Given the description of an element on the screen output the (x, y) to click on. 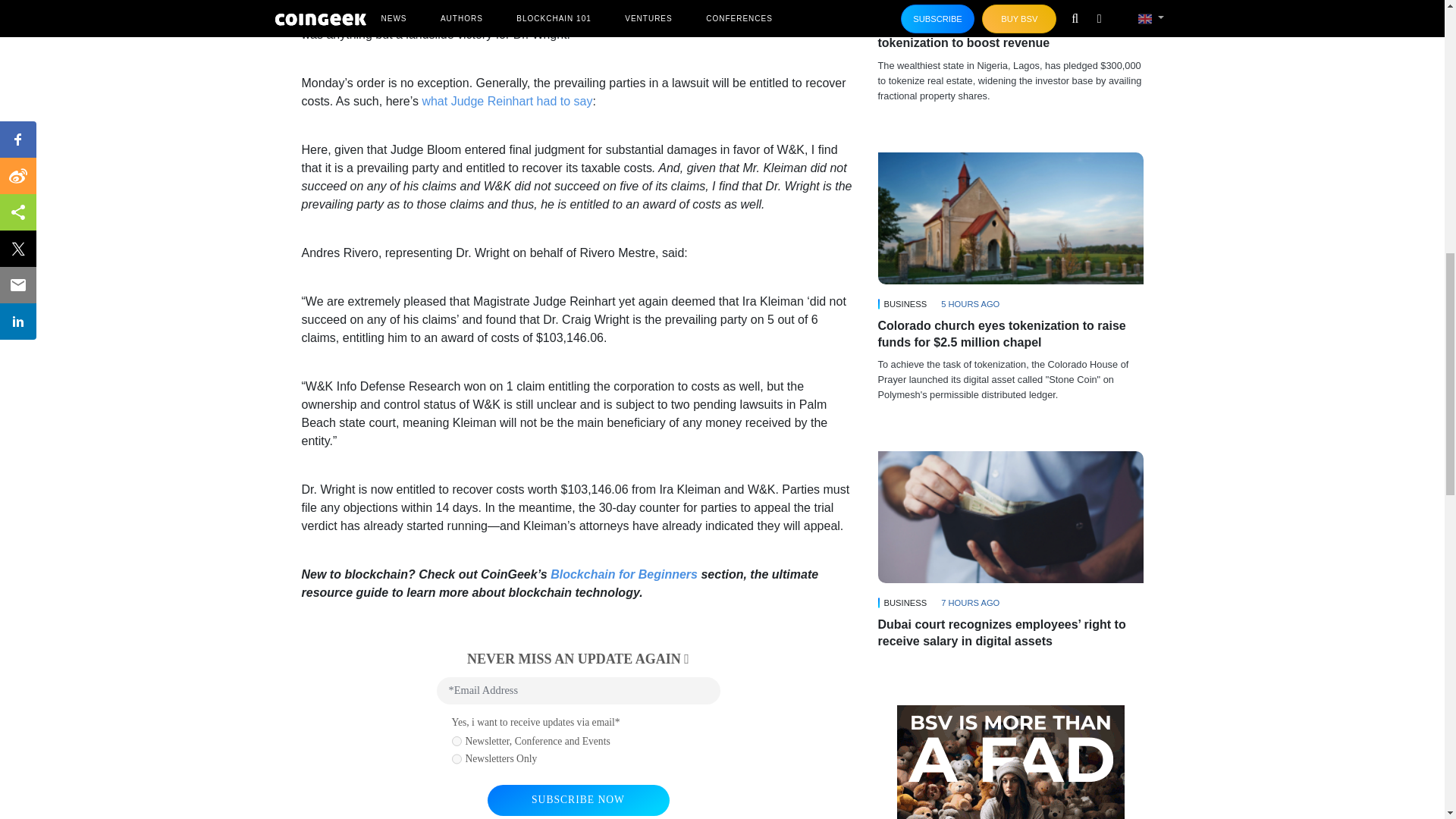
SUBSCRIBE NOW (577, 799)
Newsletter, Conference and Events (456, 741)
Newsletters Only (456, 758)
